Given the description of an element on the screen output the (x, y) to click on. 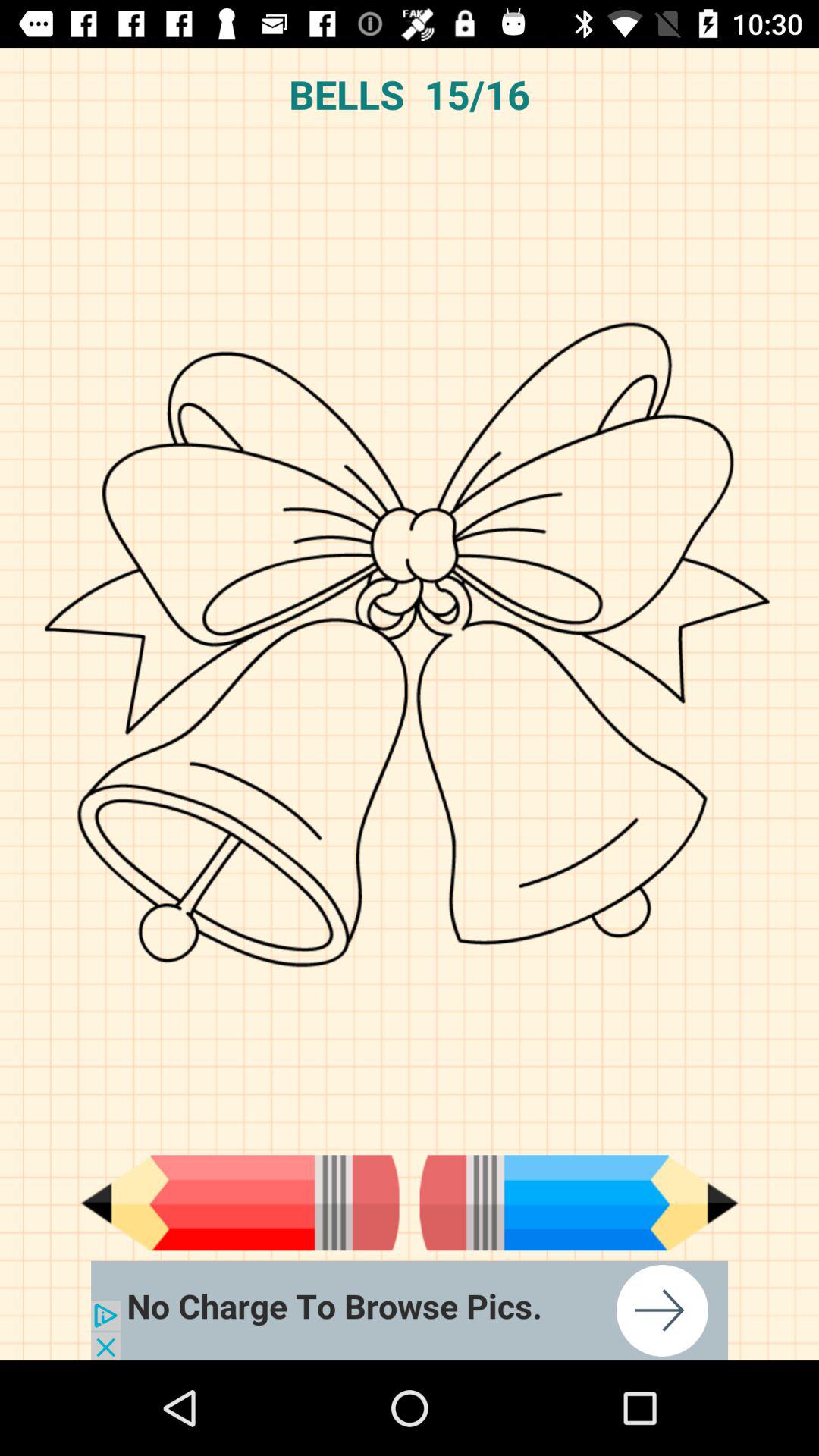
go forward (578, 1202)
